Given the description of an element on the screen output the (x, y) to click on. 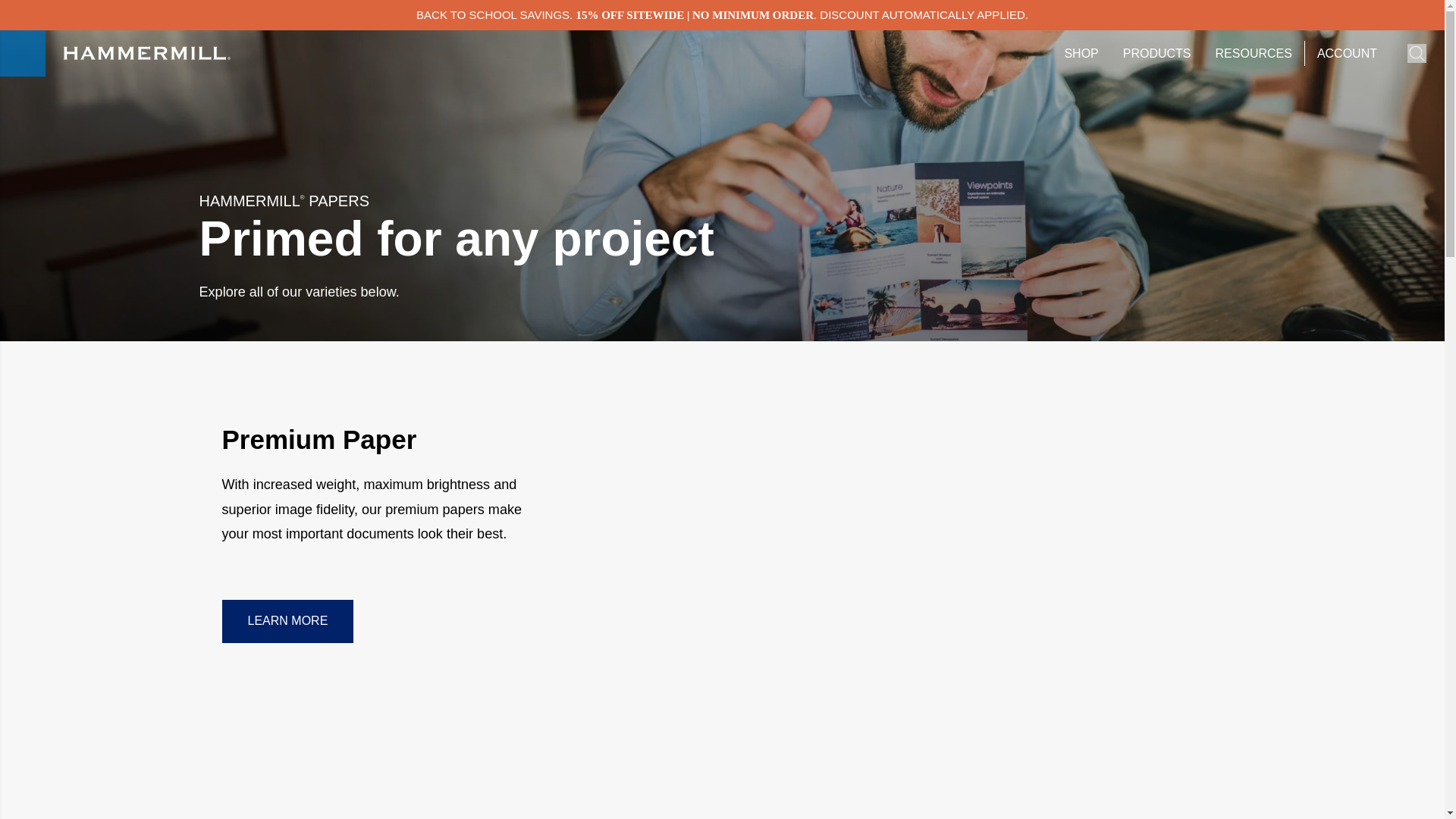
PRODUCTS (1156, 53)
ACCOUNT (1347, 52)
SHOP (1080, 53)
SEARCH ICON THAT TOGGLES THE SEARCH MODAL (1416, 53)
OPEN FLYOUT NAVIGATION (22, 53)
RESOURCES (1253, 53)
LEARN MORE (287, 620)
